Given the description of an element on the screen output the (x, y) to click on. 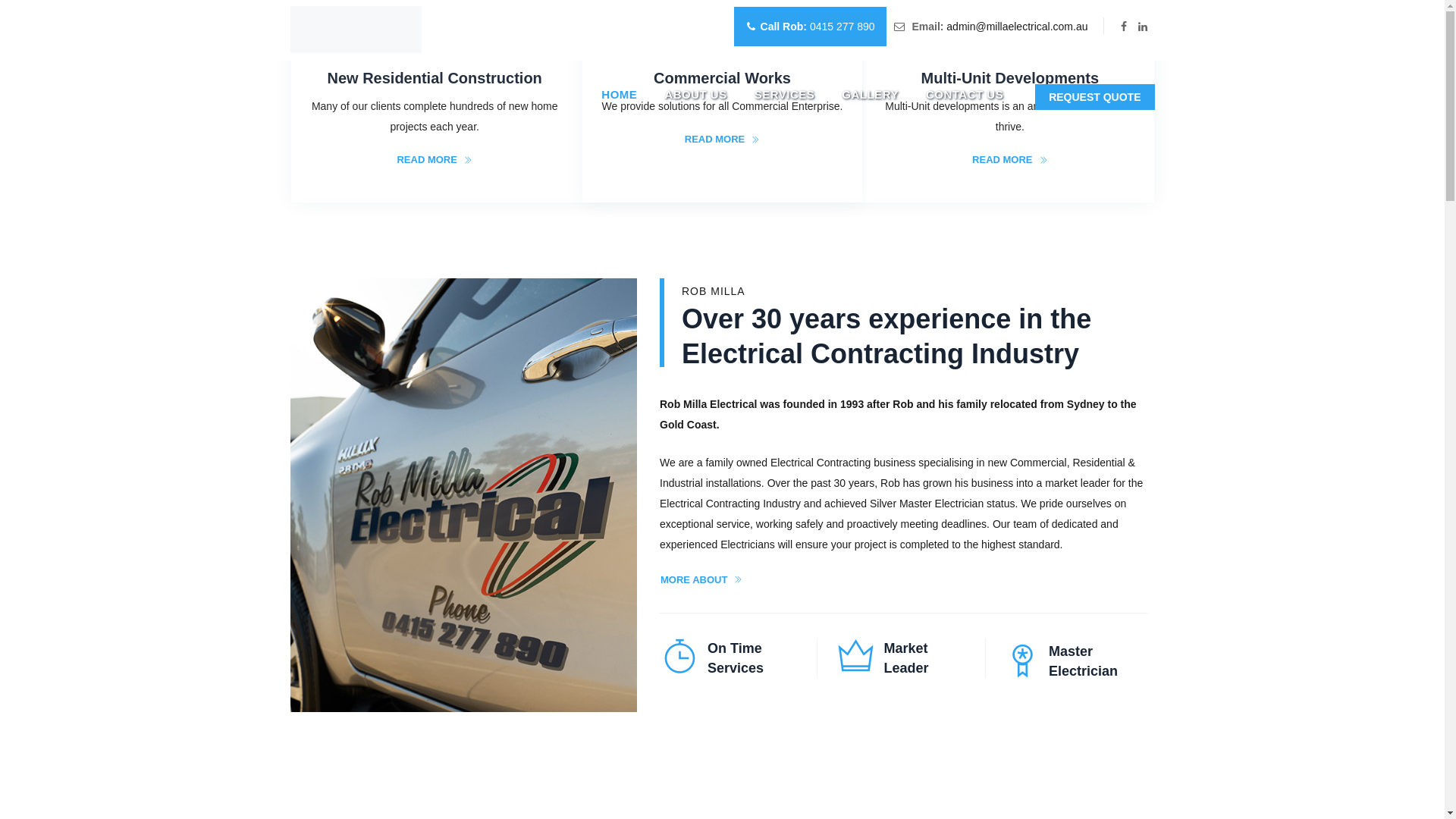
READ MORE Element type: text (722, 138)
rob-milla-electricals Element type: hover (463, 495)
MORE ABOUT Element type: text (701, 579)
GALLERY Element type: text (870, 94)
READ MORE Element type: text (1009, 159)
READ MORE Element type: text (433, 159)
SERVICES Element type: text (784, 94)
REQUEST QUOTE Element type: text (1094, 96)
0415 277 890 Element type: text (840, 26)
ABOUT US Element type: text (695, 94)
CONTACT US Element type: text (964, 94)
HOME Element type: text (618, 94)
admin@millaelectrical.com.au Element type: text (1016, 26)
